Given the description of an element on the screen output the (x, y) to click on. 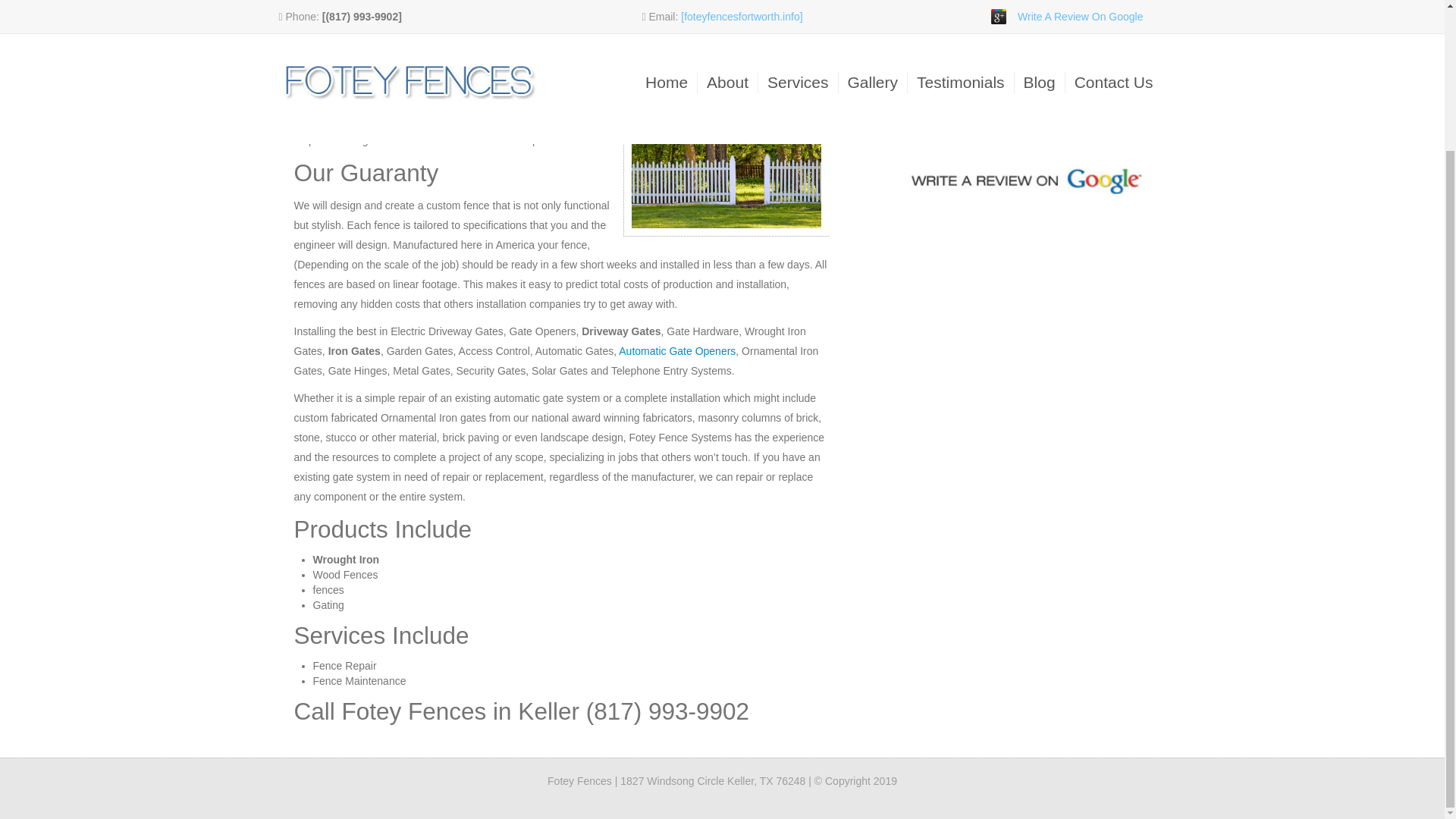
Get A Free Estimate (1026, 117)
Get A Free Estimate (1026, 116)
Automatic Gate Openers (676, 350)
